Given the description of an element on the screen output the (x, y) to click on. 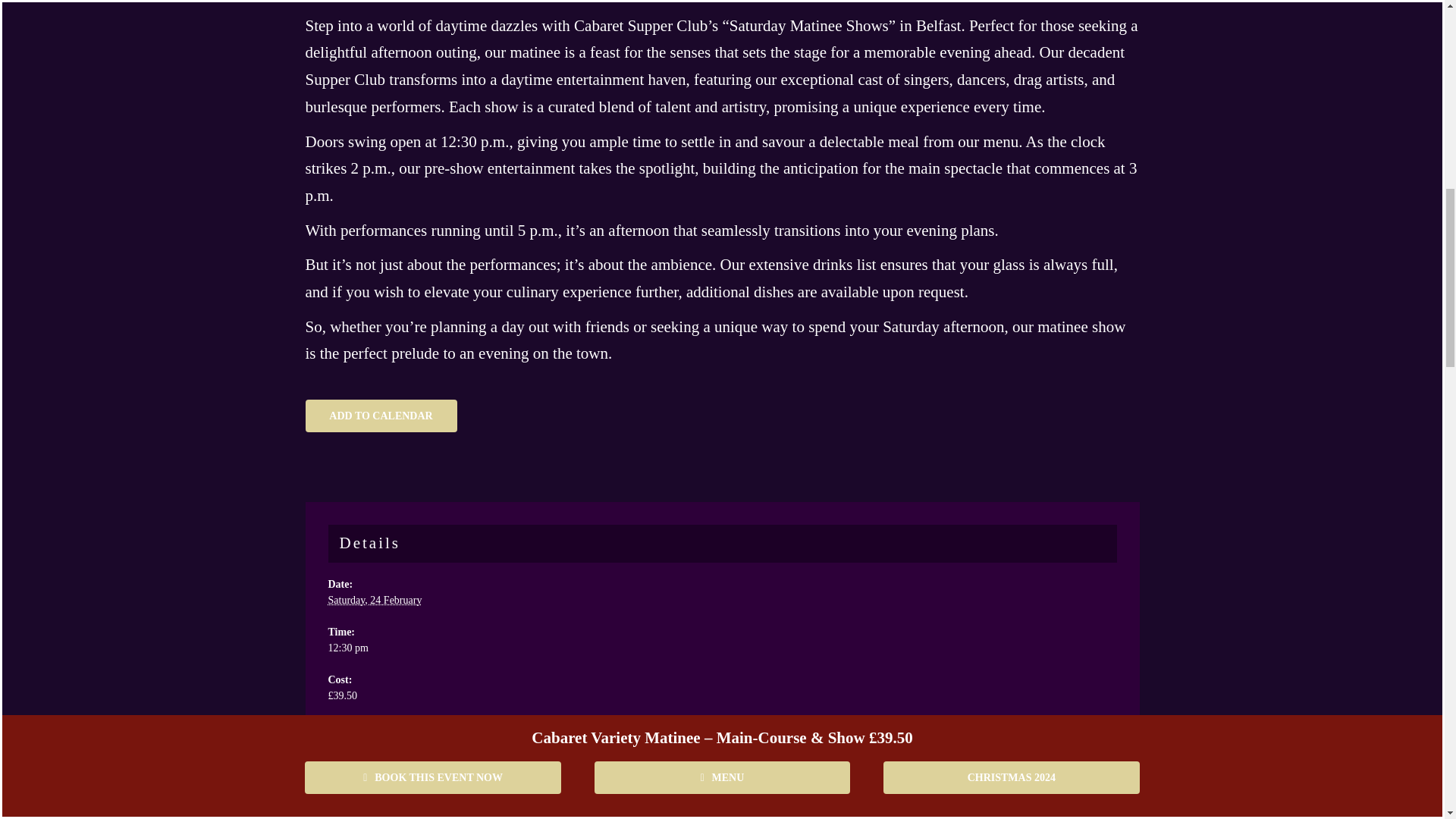
2024-02-24 (374, 600)
2024-02-24 (721, 647)
ADD TO CALENDAR (380, 415)
